Given the description of an element on the screen output the (x, y) to click on. 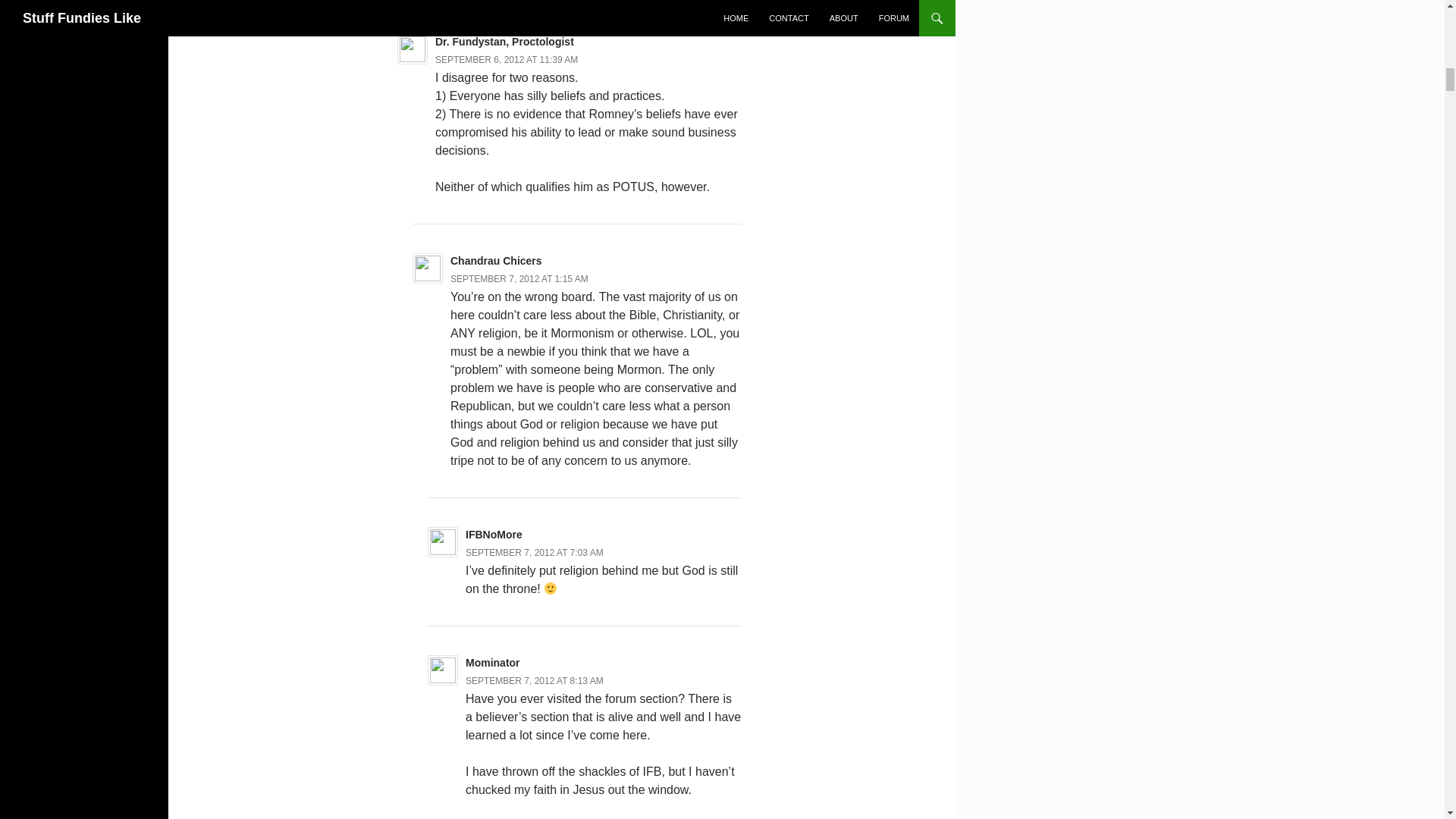
SEPTEMBER 7, 2012 AT 8:13 AM (534, 680)
SEPTEMBER 7, 2012 AT 7:03 AM (534, 552)
SEPTEMBER 6, 2012 AT 11:39 AM (506, 59)
SEPTEMBER 7, 2012 AT 1:15 AM (518, 278)
Dr. Fundystan, Proctologist (504, 41)
